Given the description of an element on the screen output the (x, y) to click on. 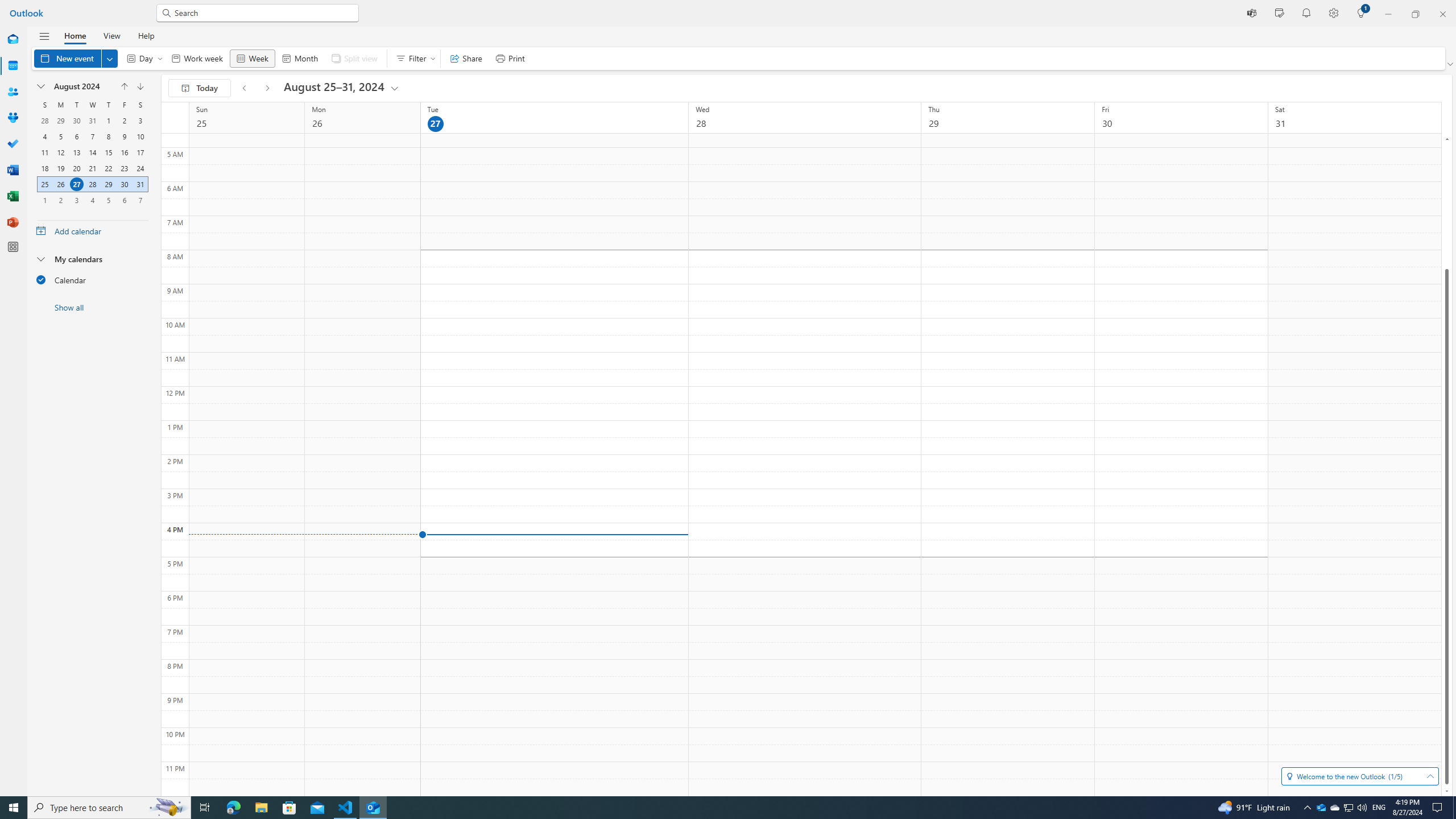
Week (251, 58)
More apps (12, 246)
9, August, 2024 (124, 136)
System (6, 6)
28, July, 2024 (44, 120)
Show all (92, 306)
Microsoft Outlook (1320, 807)
Outlook (new) - 1 running window (373, 807)
19, August, 2024 (60, 168)
31, July, 2024 (92, 120)
27, August, 2024 (76, 184)
